Given the description of an element on the screen output the (x, y) to click on. 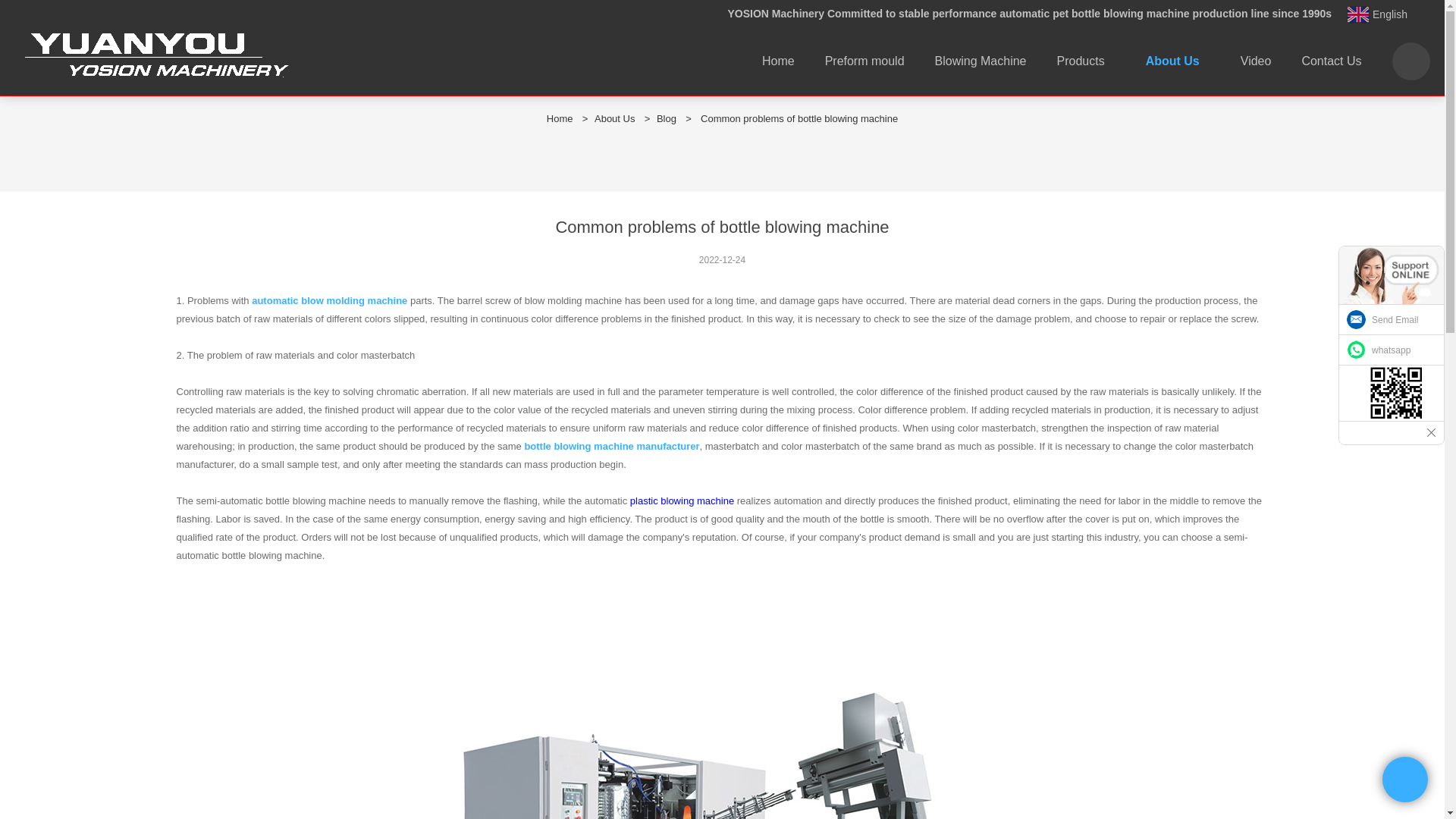
bottle blowing machine manufacturer (611, 446)
Preform mould (864, 61)
Video (1256, 61)
Home (560, 118)
Contact Us (1330, 61)
plastic blowing machine (681, 500)
automatic blow molding machine (329, 300)
Products (1086, 61)
Home (777, 61)
About Us (614, 118)
About Us (1178, 61)
Blowing Machine (981, 61)
Blog (666, 118)
